Given the description of an element on the screen output the (x, y) to click on. 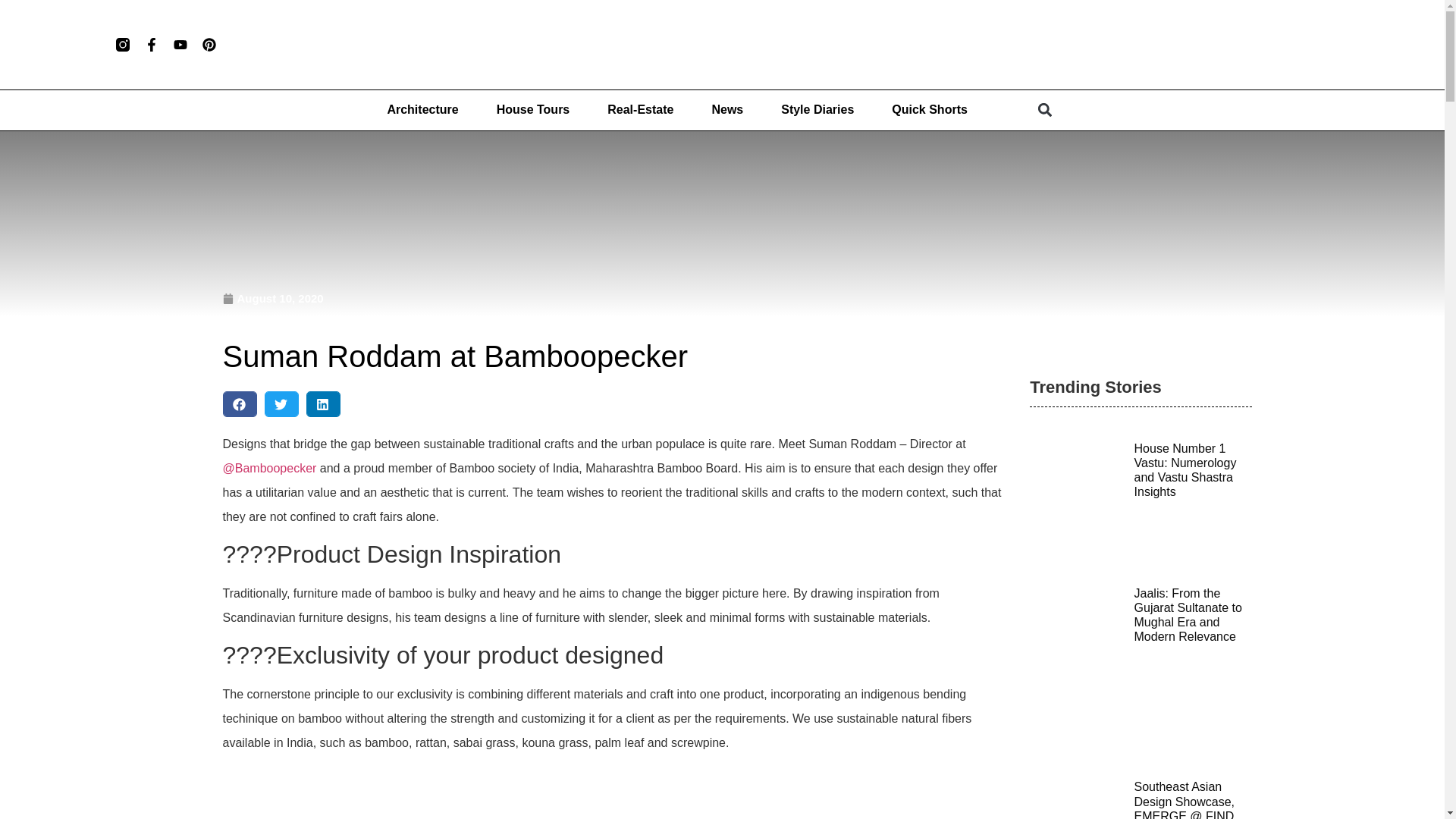
Quick Shorts (929, 109)
House Tours (533, 109)
News (726, 109)
Architecture (422, 109)
Style Diaries (816, 109)
Suman Roddam at Bamboopecker 1 (618, 792)
House Number 1 Vastu: Numerology and Vastu Shastra Insights (1185, 470)
August 10, 2020 (272, 298)
Real-Estate (639, 109)
